Given the description of an element on the screen output the (x, y) to click on. 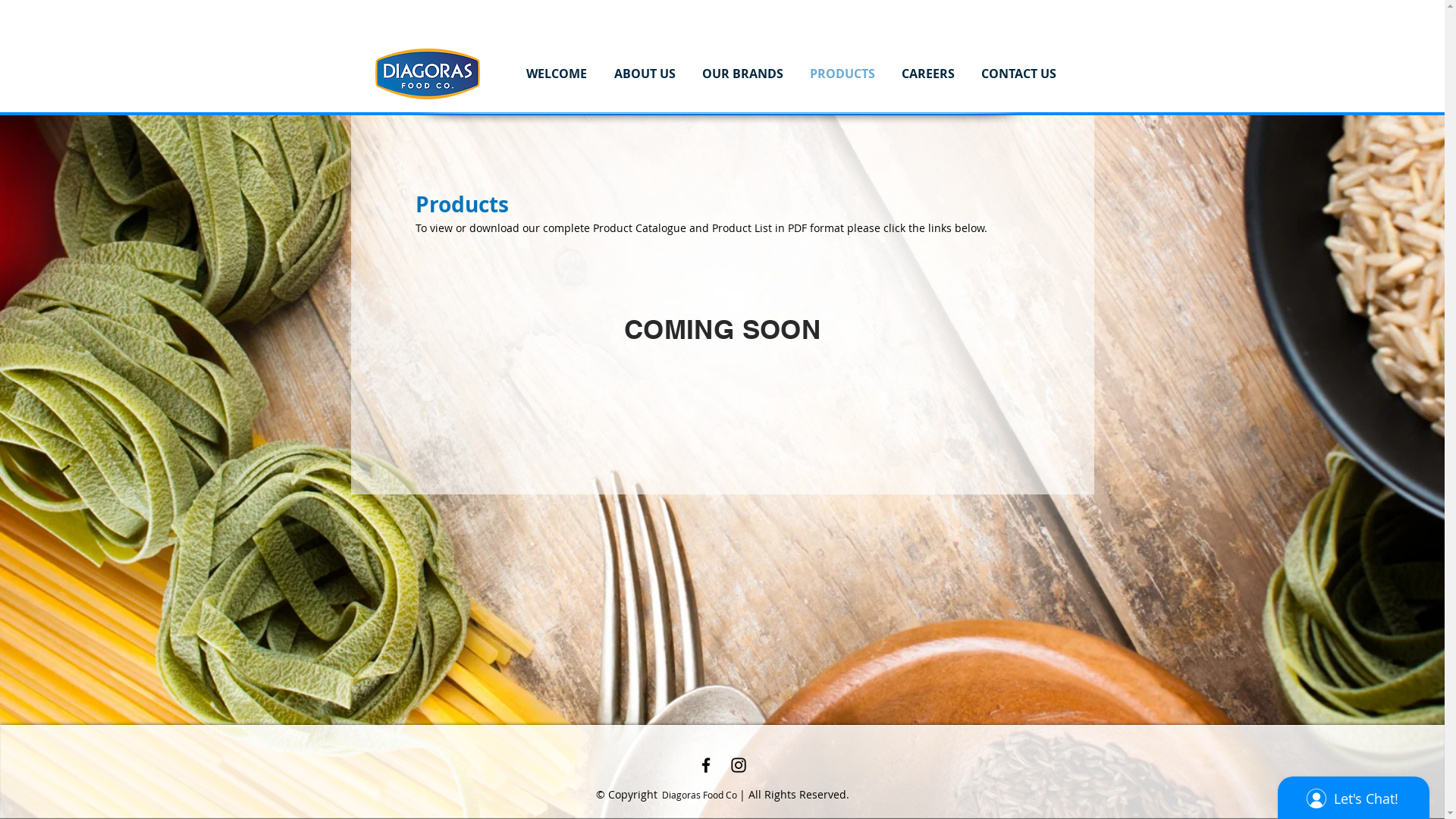
ABOUT US Element type: text (644, 73)
CAREERS Element type: text (928, 73)
CONTACT US Element type: text (1018, 73)
PRODUCTS Element type: text (842, 73)
ARFOODS GROUP_LOGO.png Element type: hover (426, 73)
WELCOME Element type: text (556, 73)
OUR BRANDS Element type: text (742, 73)
